Given the description of an element on the screen output the (x, y) to click on. 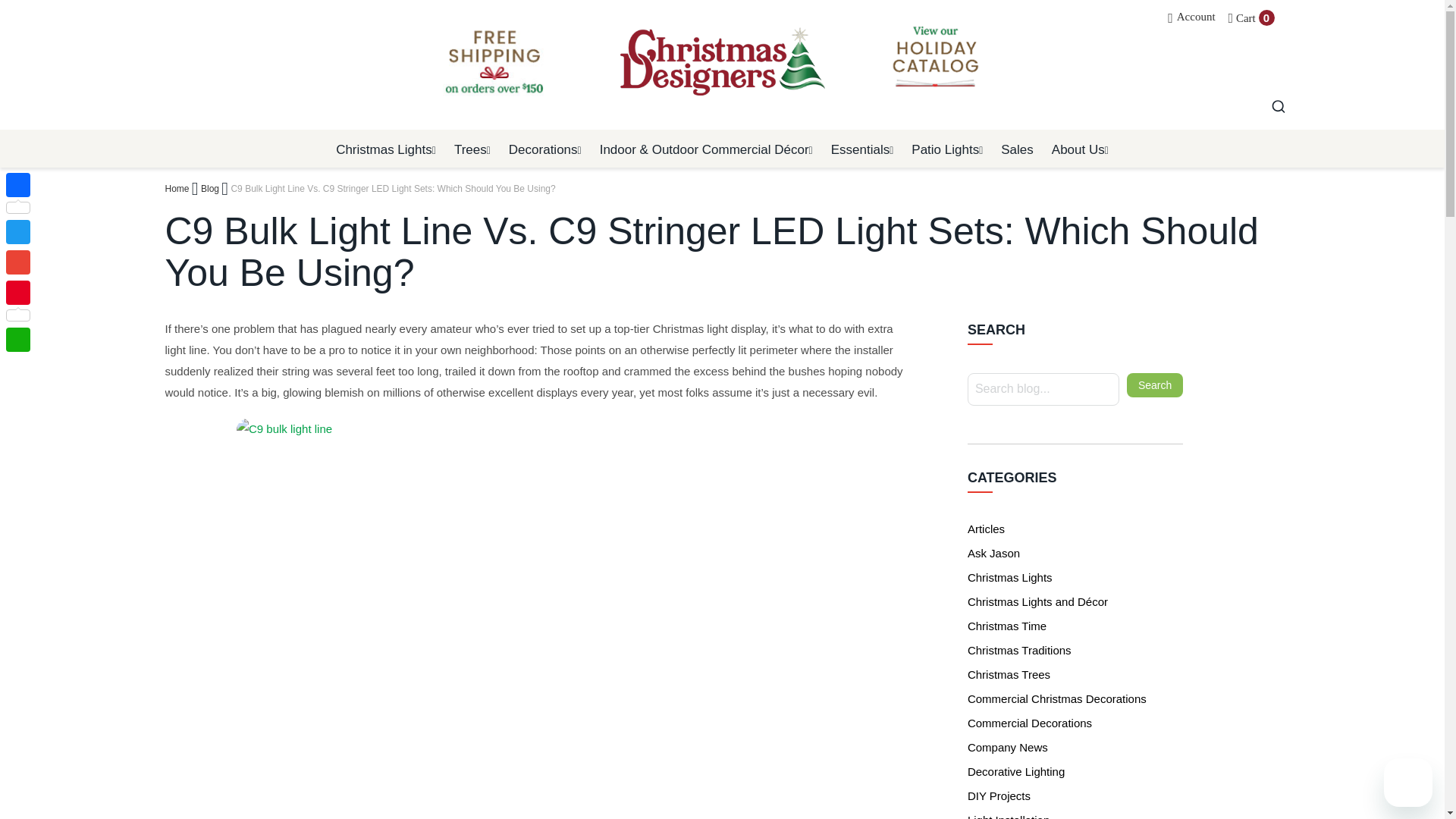
Blog (209, 188)
Account (1190, 16)
Christmas Trees (1008, 674)
Gmail (17, 262)
Christmas Designers (722, 61)
Twitter (17, 232)
Christmas Lights (385, 148)
Ask Jason (994, 553)
Articles (986, 528)
Christmas Lights (1010, 576)
WhatsApp (17, 339)
Submit (1278, 107)
Go to Home Page (177, 188)
Commercial Christmas Decorations (1057, 698)
Christmas Time (1007, 625)
